Given the description of an element on the screen output the (x, y) to click on. 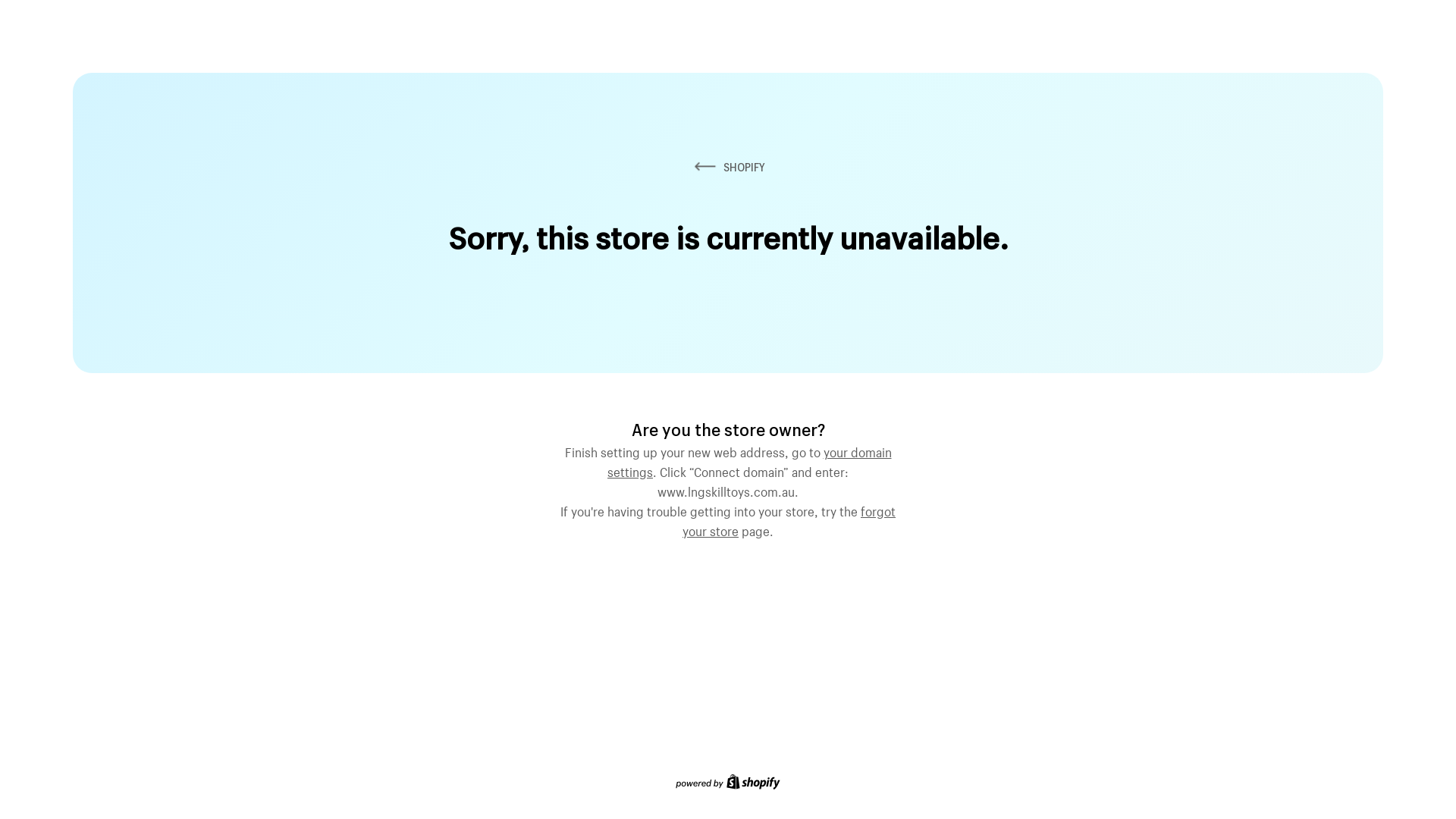
SHOPIFY Element type: text (727, 167)
your domain settings Element type: text (749, 460)
forgot your store Element type: text (788, 519)
